Given the description of an element on the screen output the (x, y) to click on. 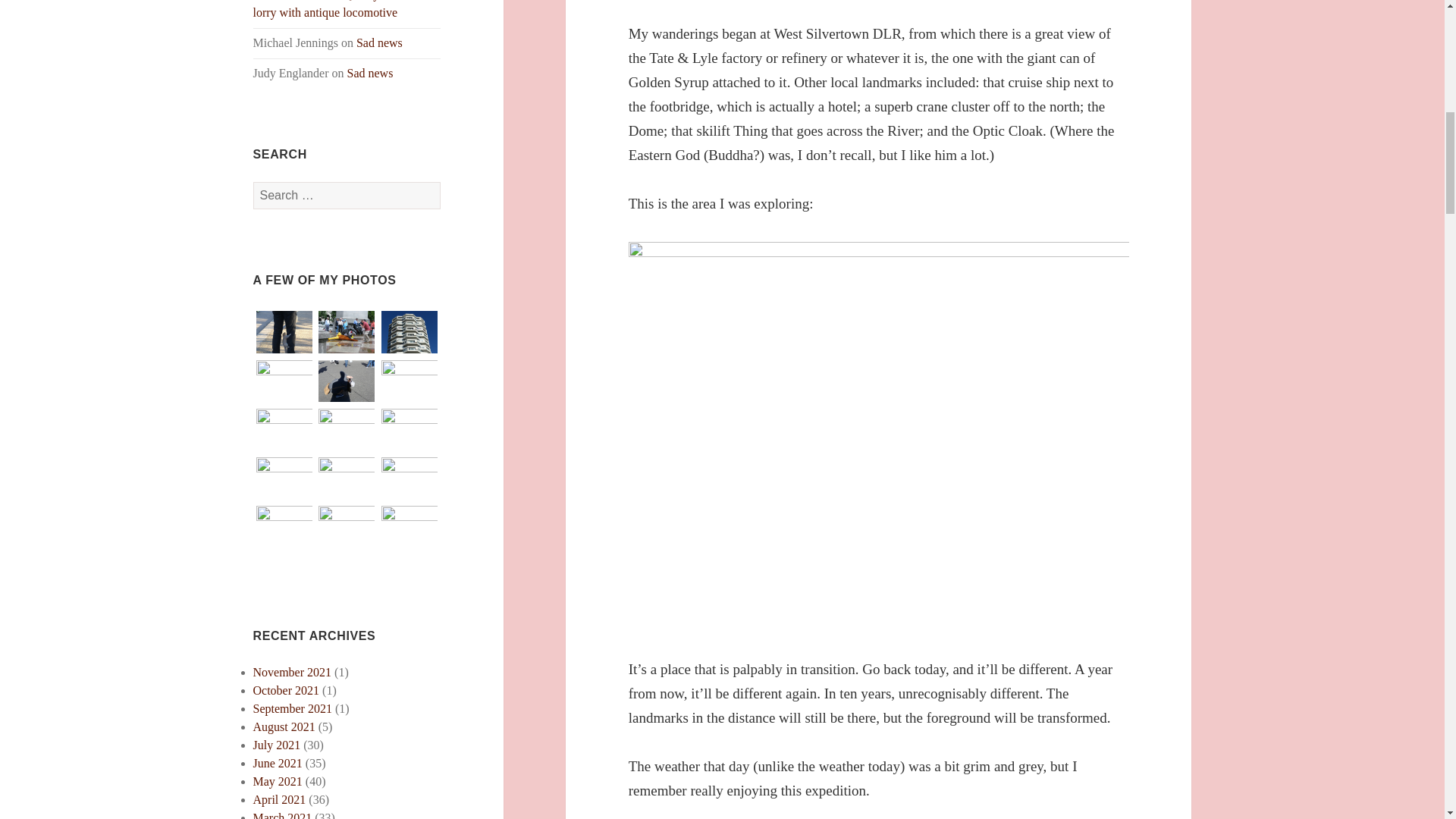
Dutch Quality Flowers lorry with antique locomotive (337, 9)
Sad news (370, 72)
Sad news (379, 42)
